Given the description of an element on the screen output the (x, y) to click on. 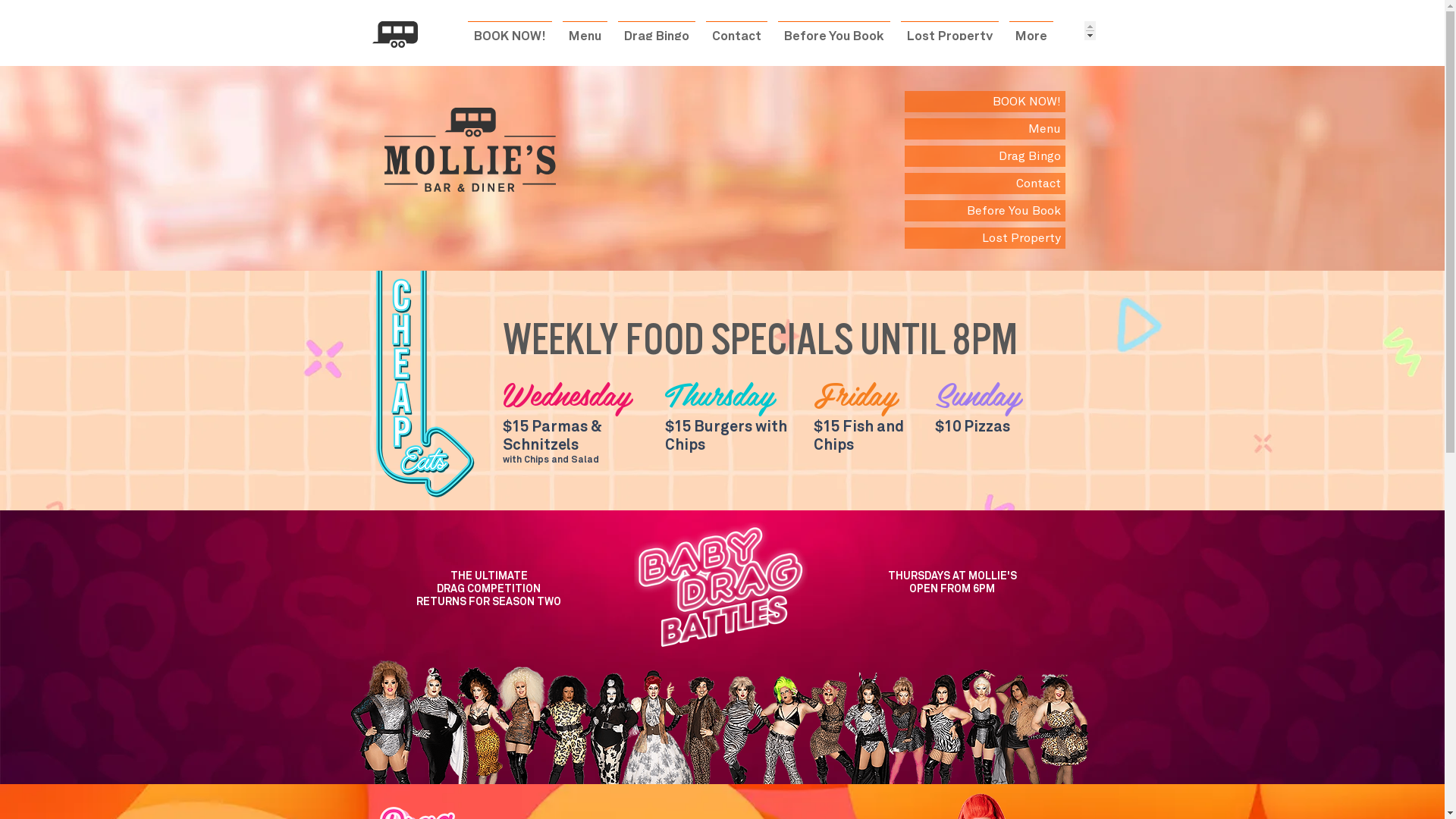
BOOK NOW! Element type: text (983, 101)
Lost Property Element type: text (949, 30)
Before You Book Element type: text (983, 210)
BOOK NOW! Element type: text (509, 30)
Contact Element type: text (983, 183)
Contact Element type: text (736, 30)
CheapEatsWeb.png Element type: hover (421, 384)
Menu Element type: text (983, 128)
Menu Element type: text (584, 30)
Untitled-5.png Element type: hover (718, 721)
Drag Bingo Element type: text (656, 30)
Drag Bingo Element type: text (983, 155)
Lost Property Element type: text (983, 237)
Before You Book Element type: text (833, 30)
BDBattlesLogo.png Element type: hover (718, 584)
